Given the description of an element on the screen output the (x, y) to click on. 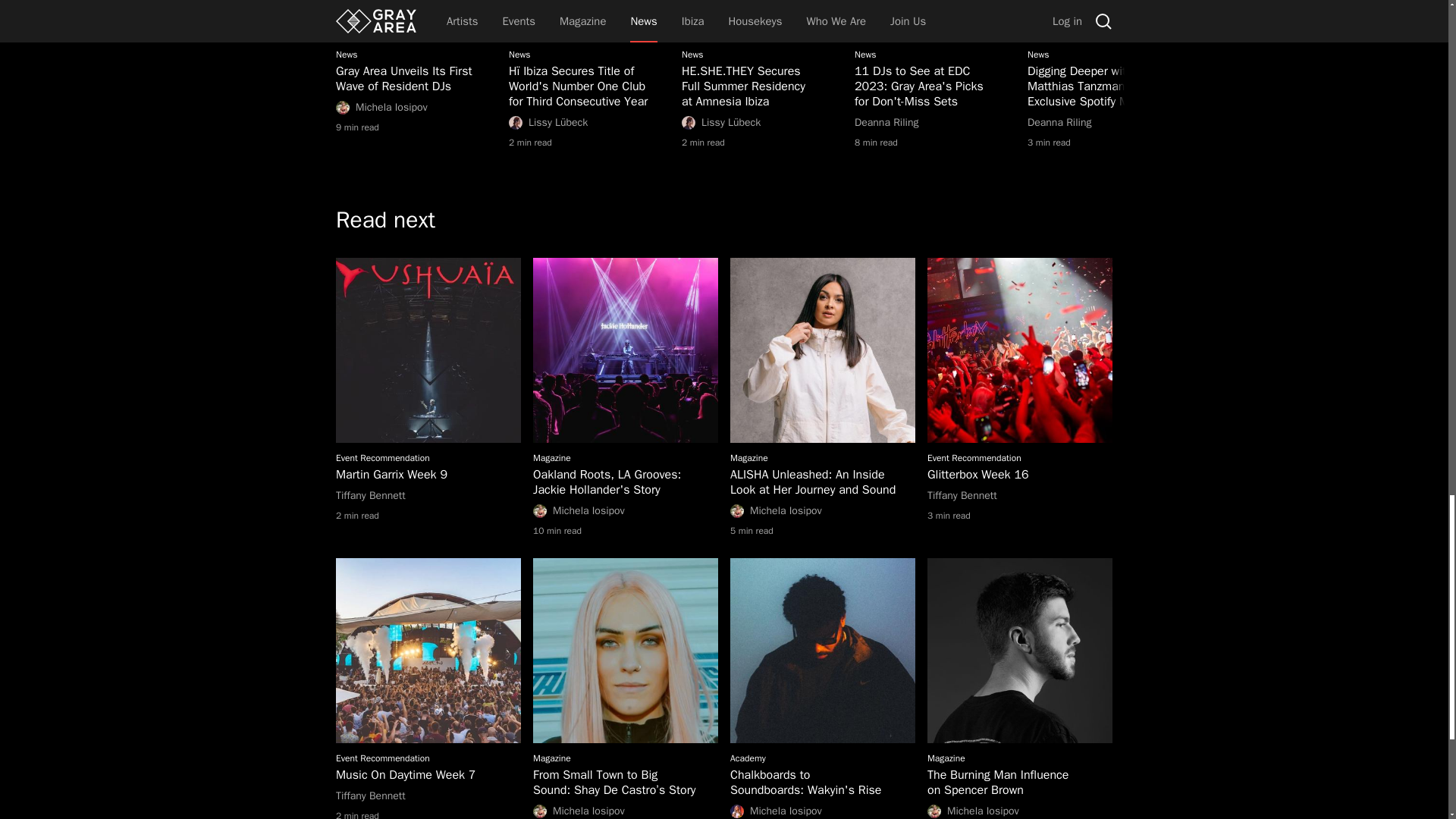
Deanna Riling (934, 122)
Michela Iosipov (416, 71)
Deanna Riling (416, 107)
